Given the description of an element on the screen output the (x, y) to click on. 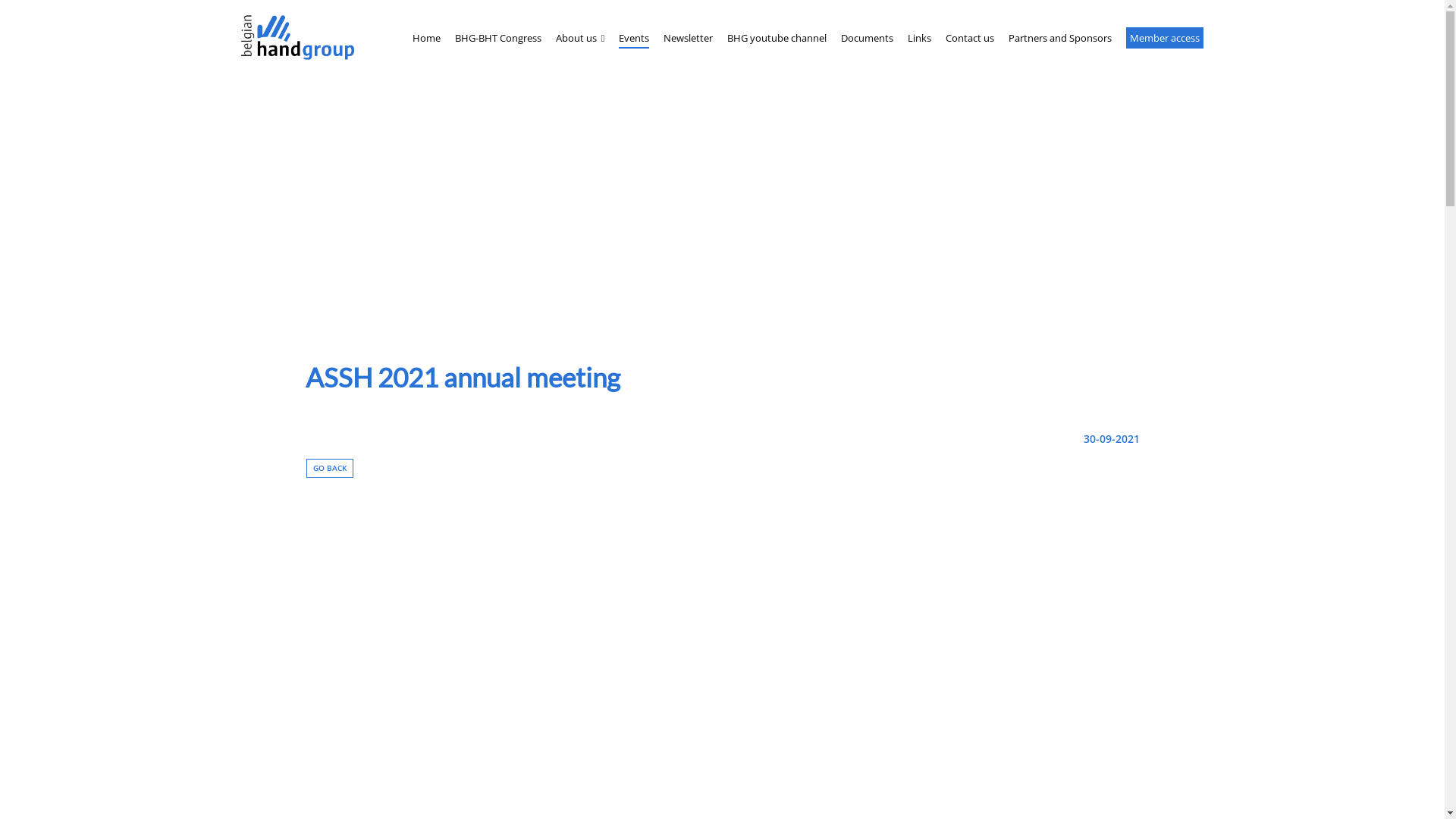
Home Element type: text (426, 37)
Links Element type: text (919, 37)
Member access Element type: text (1164, 37)
GO BACK Element type: text (329, 467)
Contact us Element type: text (969, 37)
Documents Element type: text (866, 37)
Newsletter Element type: text (687, 37)
BHG youtube channel Element type: text (776, 37)
BHG-BHT Congress Element type: text (498, 37)
Partners and Sponsors Element type: text (1059, 37)
Events Element type: text (633, 37)
About us   Element type: text (579, 37)
